Given the description of an element on the screen output the (x, y) to click on. 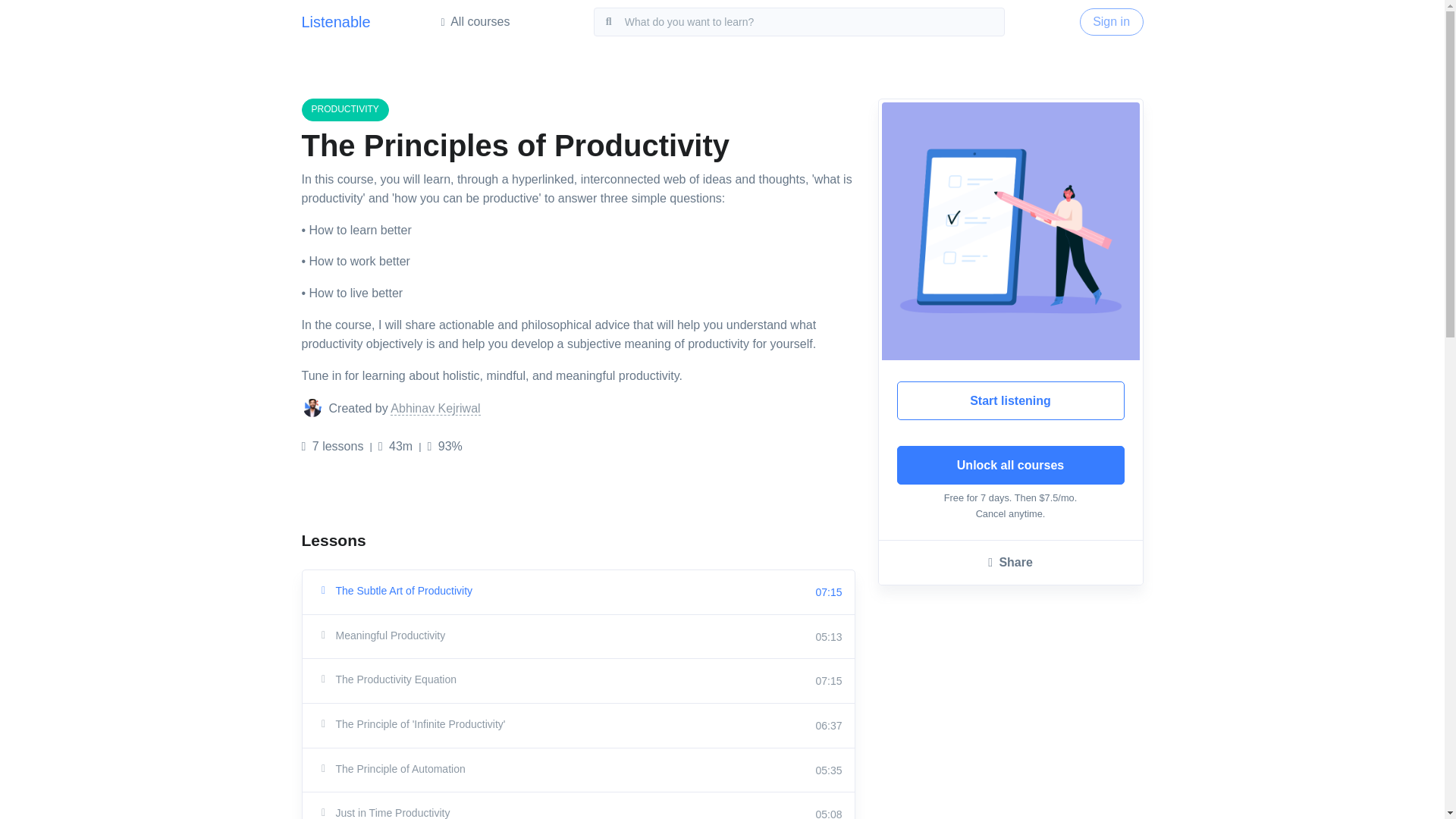
Start listening (1010, 400)
The Principle of Automation (496, 768)
The Subtle Art of Productivity (496, 590)
All courses (480, 24)
Just in Time Productivity (496, 811)
 Sign in  (1111, 22)
Unlock all courses (1010, 465)
The Productivity Equation (496, 678)
The Principle of 'Infinite Productivity' (496, 723)
Meaningful Productivity (496, 635)
